Given the description of an element on the screen output the (x, y) to click on. 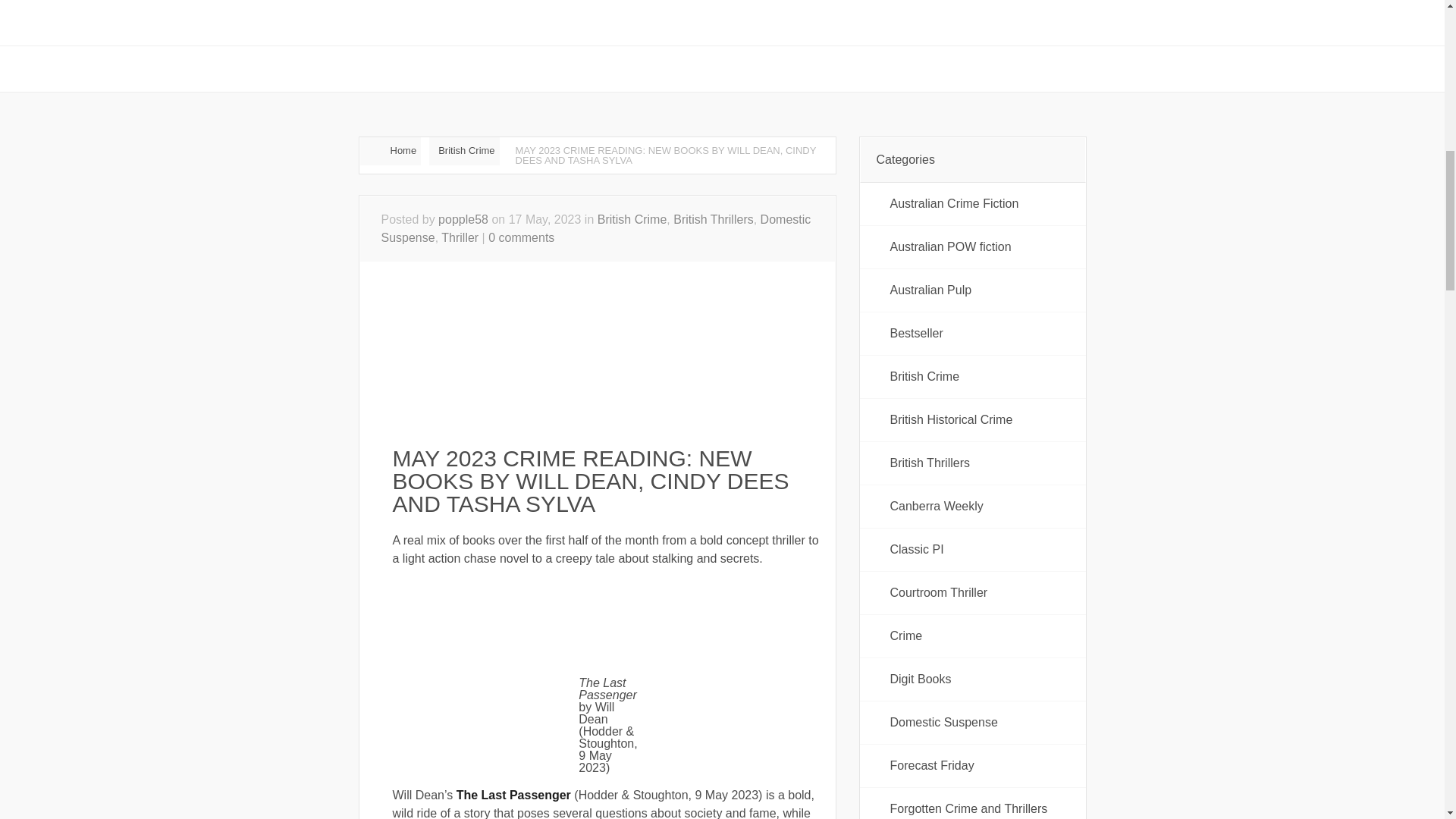
British Crime (464, 151)
Home (389, 151)
Posts by popple58 (462, 219)
